Given the description of an element on the screen output the (x, y) to click on. 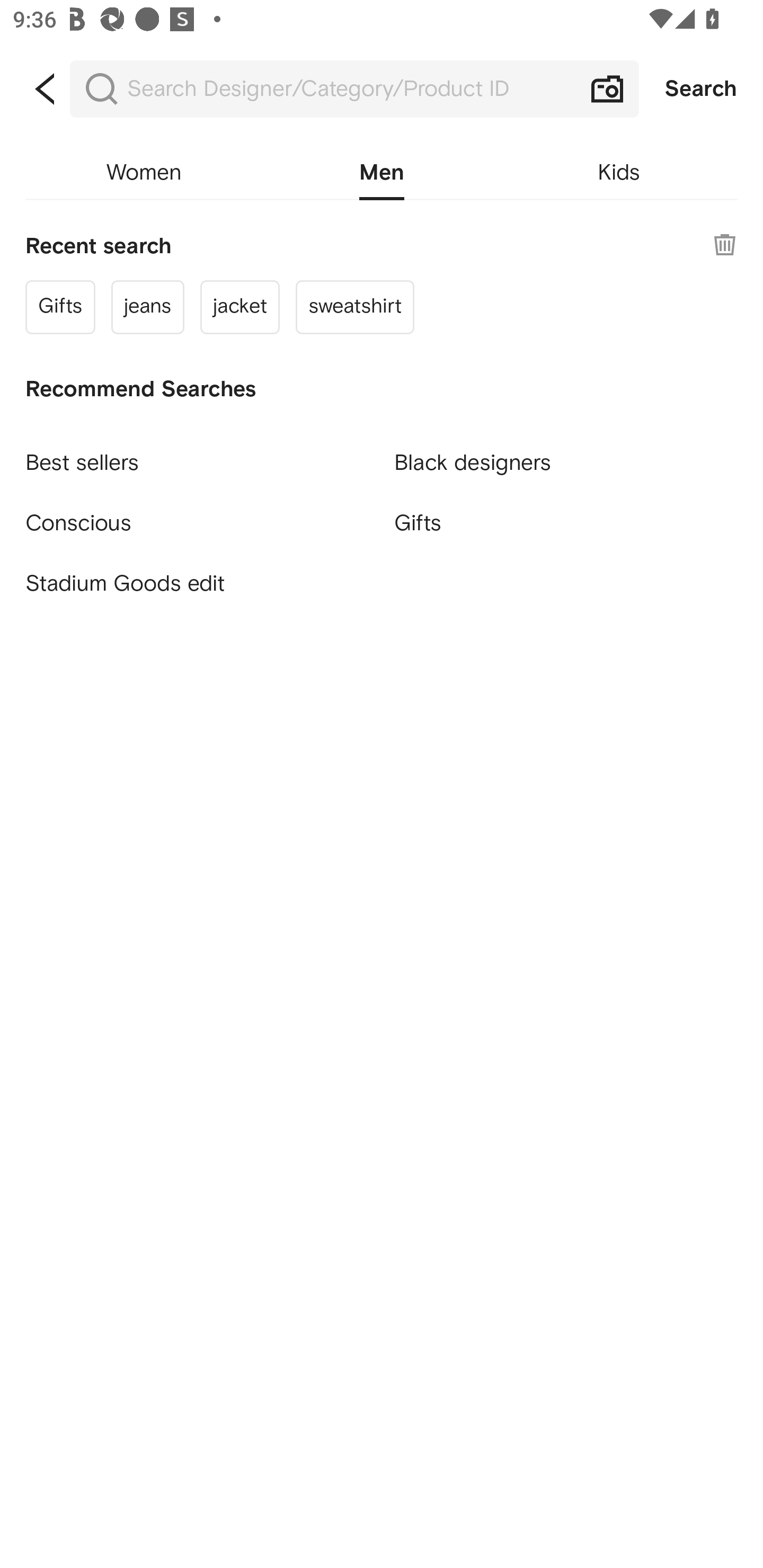
Search Designer/Category/Product ID (354, 89)
Search (701, 89)
Women (143, 172)
Kids (618, 172)
Gifts (60, 306)
jeans (147, 306)
jacket (240, 306)
sweatshirt (354, 306)
Best sellers (196, 454)
Black designers (565, 454)
Conscious (196, 514)
Gifts (565, 522)
Stadium Goods edit (196, 583)
